Given the description of an element on the screen output the (x, y) to click on. 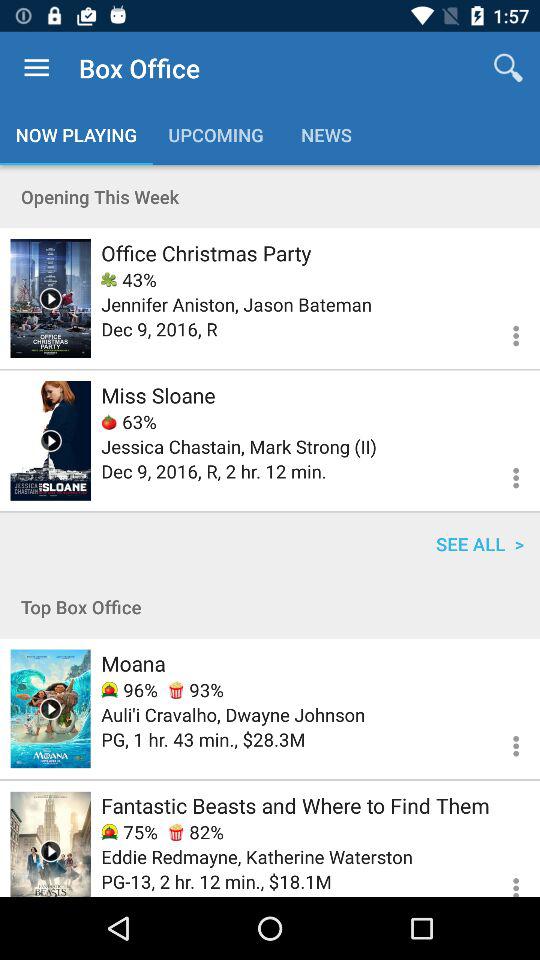
options for this movie (503, 743)
